Given the description of an element on the screen output the (x, y) to click on. 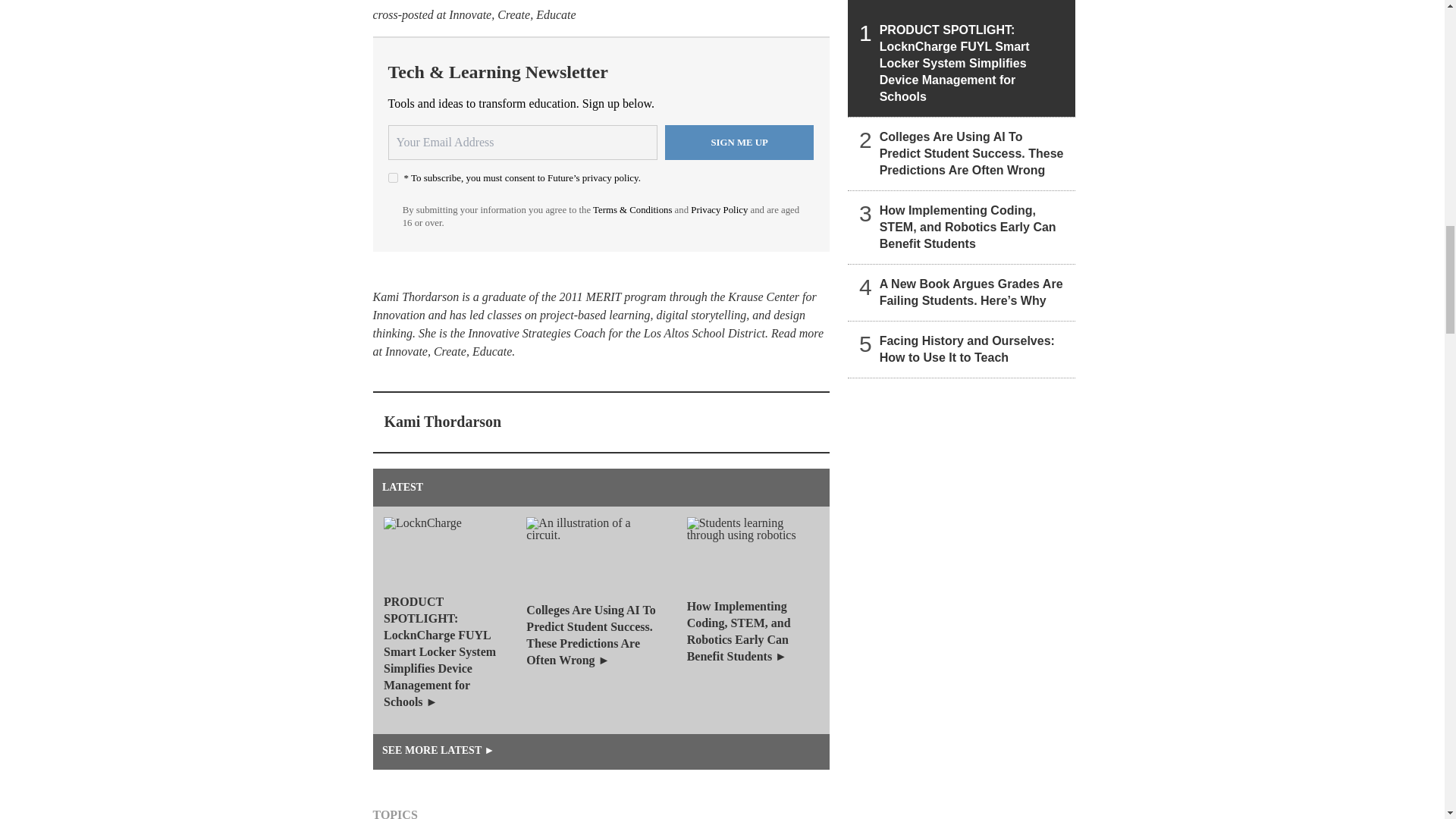
Innovate, Create, Educate (448, 350)
Innovate, Create, Educate (511, 14)
Privacy Policy (719, 209)
Sign me up (739, 142)
Sign me up (739, 142)
on (392, 177)
